Given the description of an element on the screen output the (x, y) to click on. 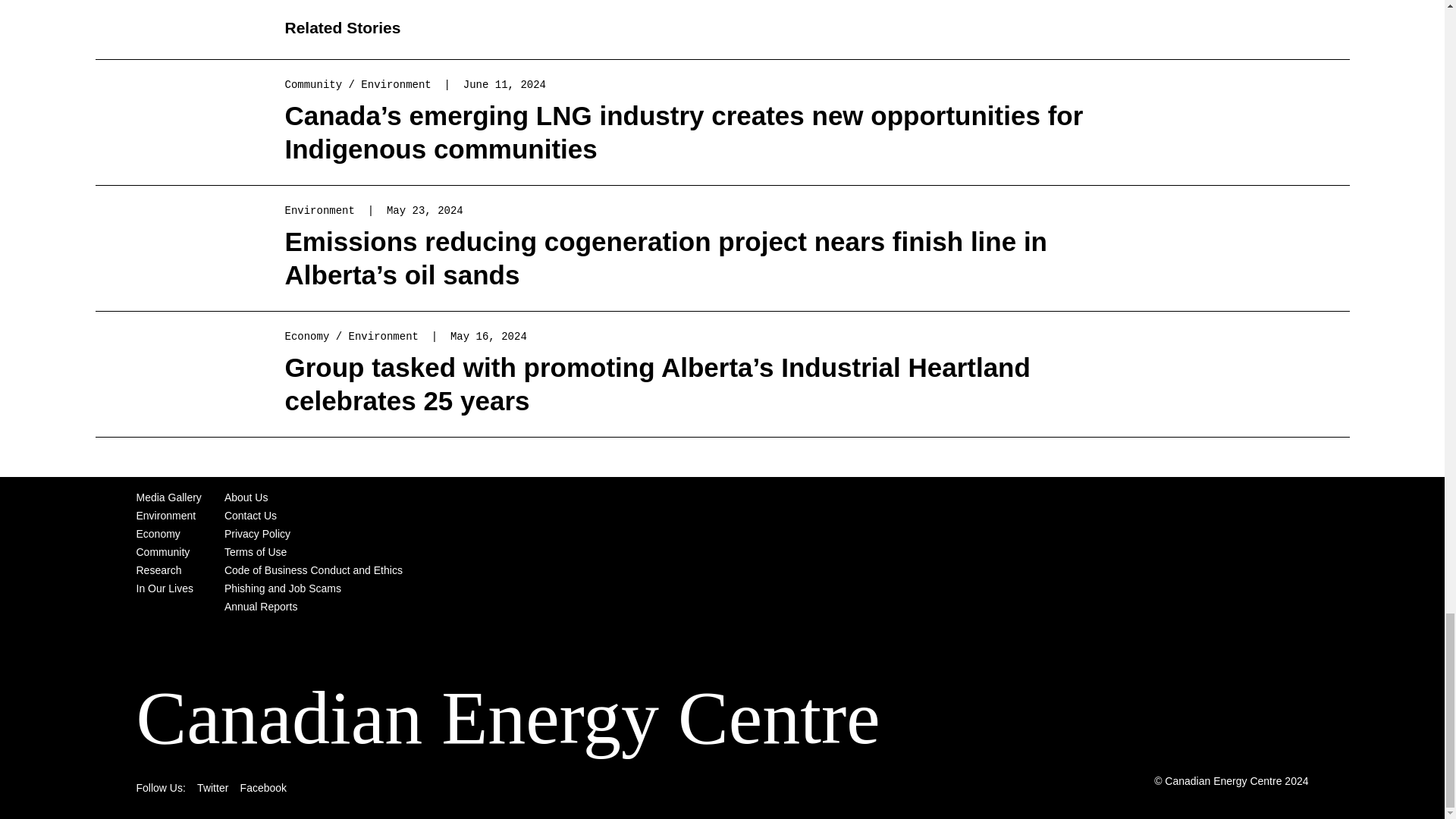
Media Gallery (169, 497)
Environment (384, 336)
Environment (166, 515)
Community (313, 84)
Environment (395, 84)
Community (163, 551)
Economy (158, 533)
Economy (307, 336)
Environment (320, 210)
